Given the description of an element on the screen output the (x, y) to click on. 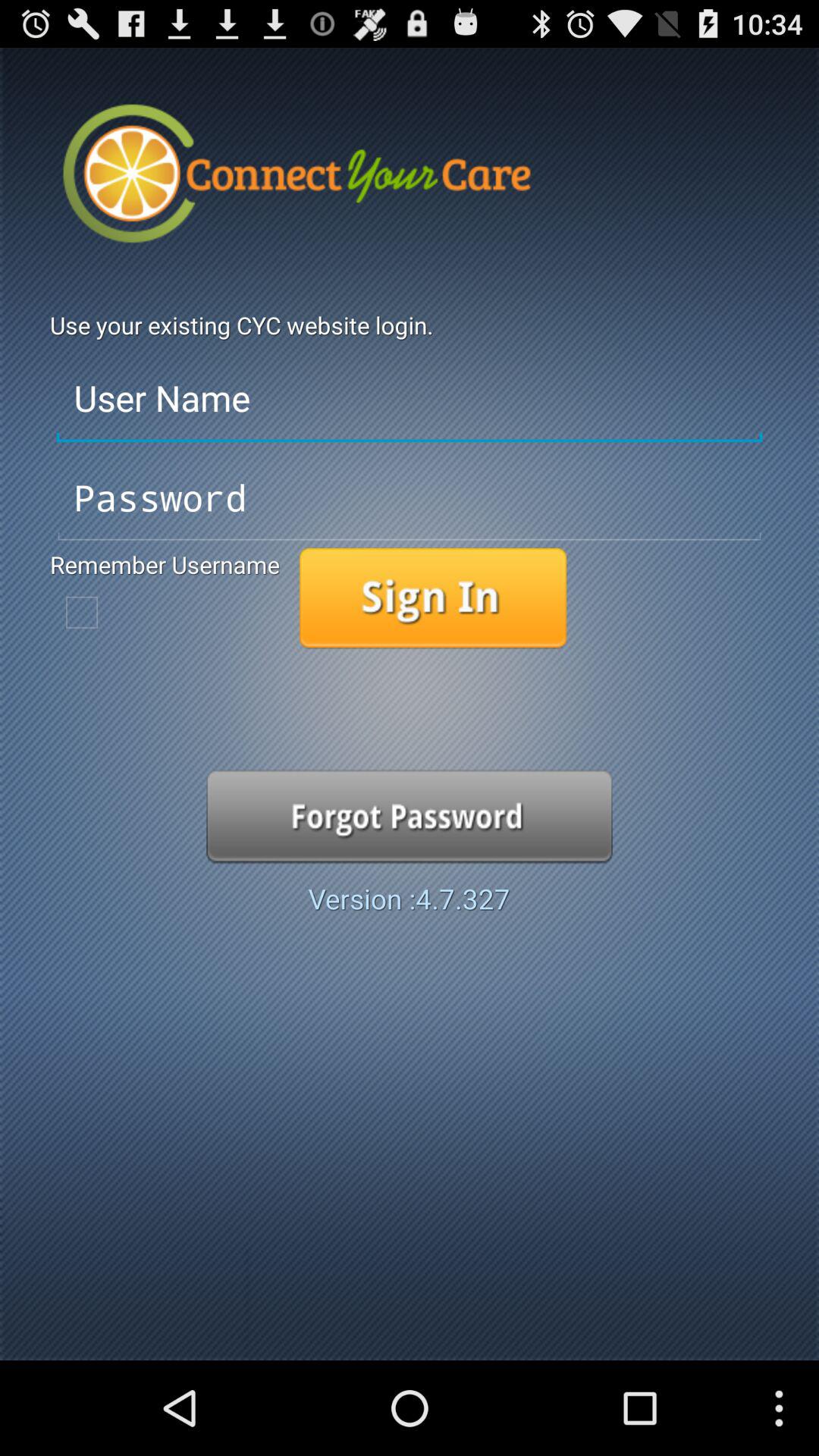
select option (409, 815)
